Given the description of an element on the screen output the (x, y) to click on. 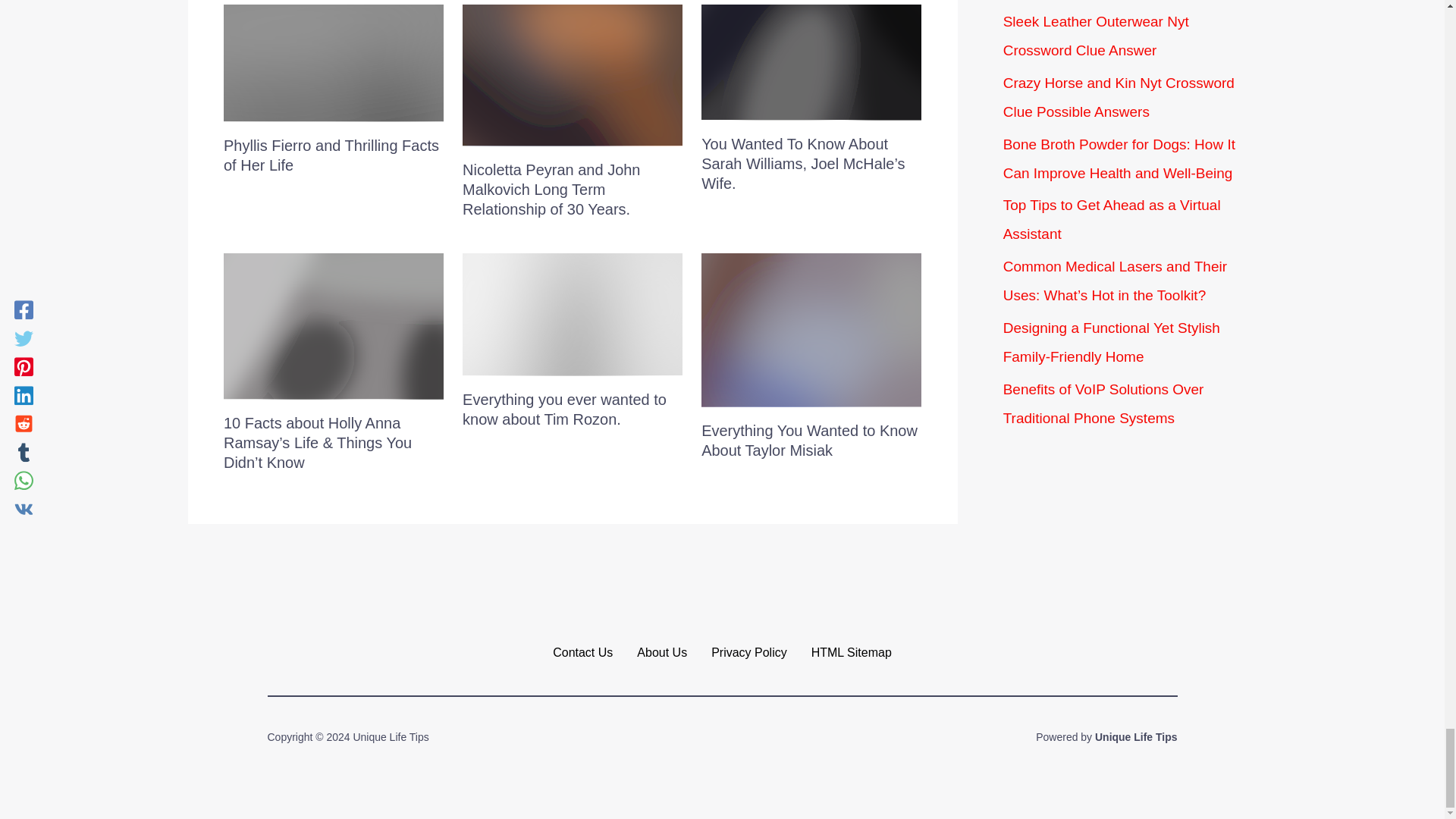
Sarah Williams Joel McHales (811, 62)
Taylor Misiak compressed (811, 330)
Holly Anna Ramsays compressed (334, 326)
Tim rozon min (572, 314)
Phyllis Fierro has min (334, 62)
